Given the description of an element on the screen output the (x, y) to click on. 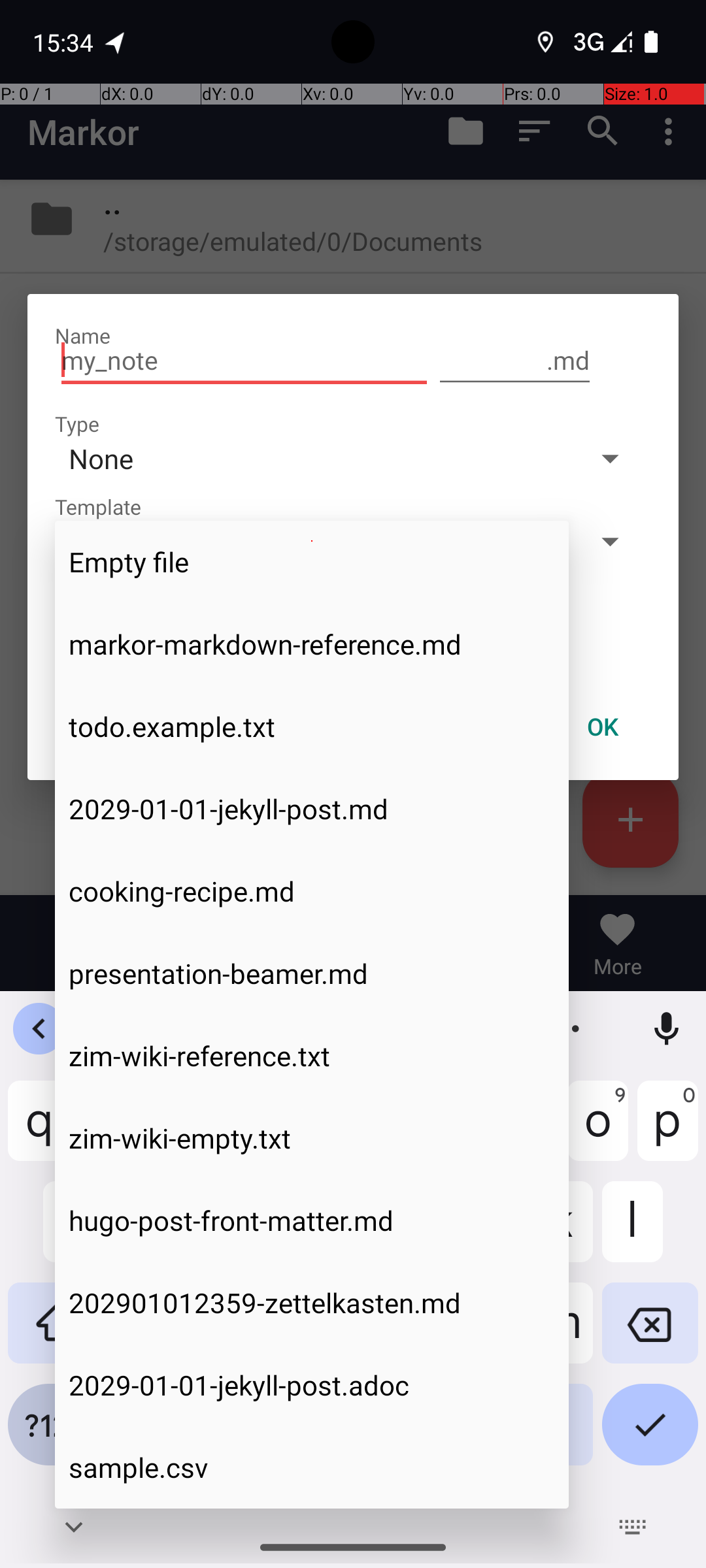
markor-markdown-reference.md Element type: android.widget.CheckedTextView (311, 644)
todo.example.txt Element type: android.widget.CheckedTextView (311, 726)
2029-01-01-jekyll-post.md Element type: android.widget.CheckedTextView (311, 808)
cooking-recipe.md Element type: android.widget.CheckedTextView (311, 890)
presentation-beamer.md Element type: android.widget.CheckedTextView (311, 973)
zim-wiki-reference.txt Element type: android.widget.CheckedTextView (311, 1055)
zim-wiki-empty.txt Element type: android.widget.CheckedTextView (311, 1137)
hugo-post-front-matter.md Element type: android.widget.CheckedTextView (311, 1220)
202901012359-zettelkasten.md Element type: android.widget.CheckedTextView (311, 1302)
2029-01-01-jekyll-post.adoc Element type: android.widget.CheckedTextView (311, 1384)
sample.csv Element type: android.widget.CheckedTextView (311, 1467)
